Given the description of an element on the screen output the (x, y) to click on. 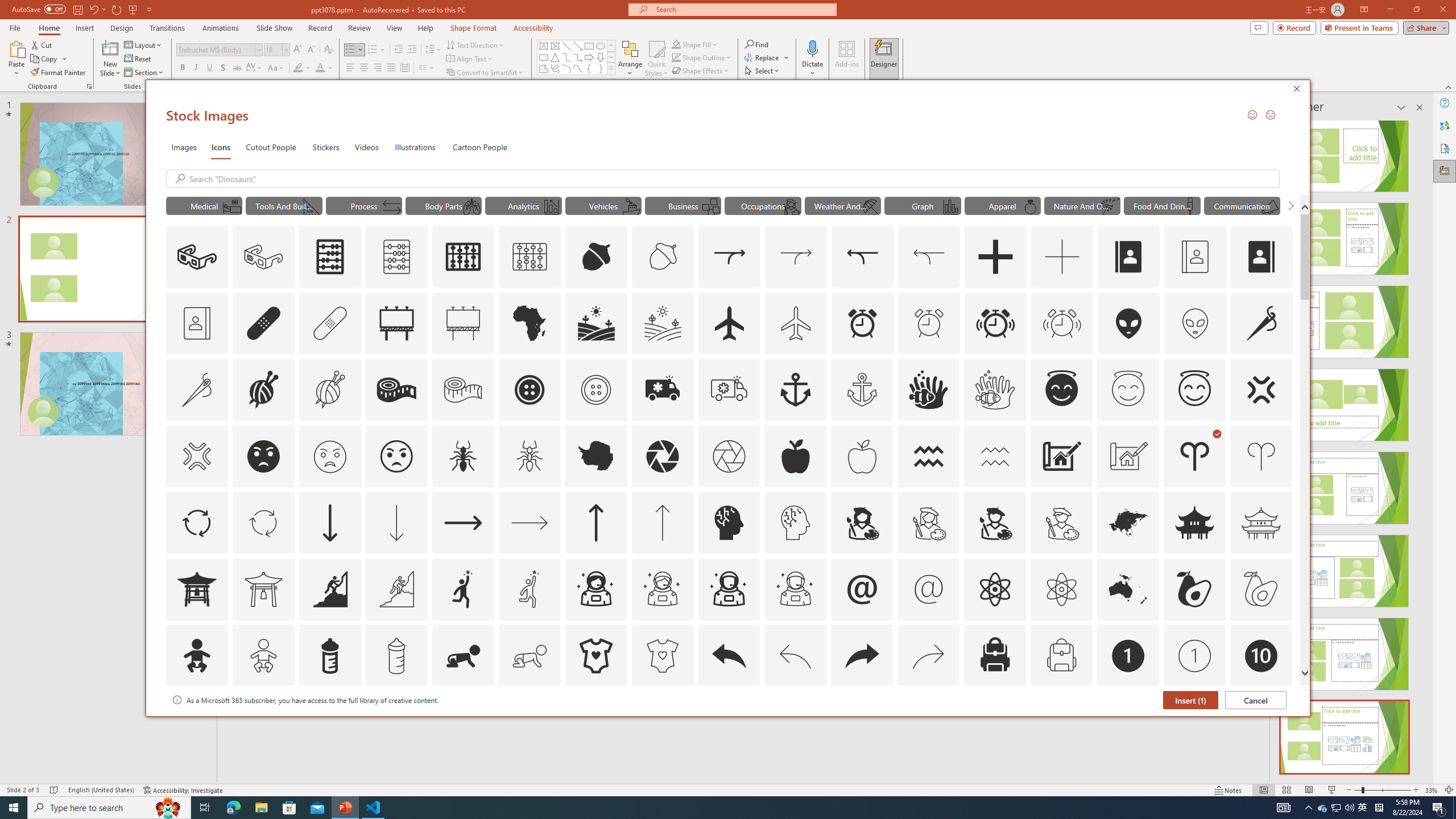
outline (1194, 389)
AutomationID: Icons_Acquisition_RTL (863, 256)
AutomationID: Icons_AstronautMale (729, 588)
AutomationID: Icons_Badge7 (928, 721)
